Given the description of an element on the screen output the (x, y) to click on. 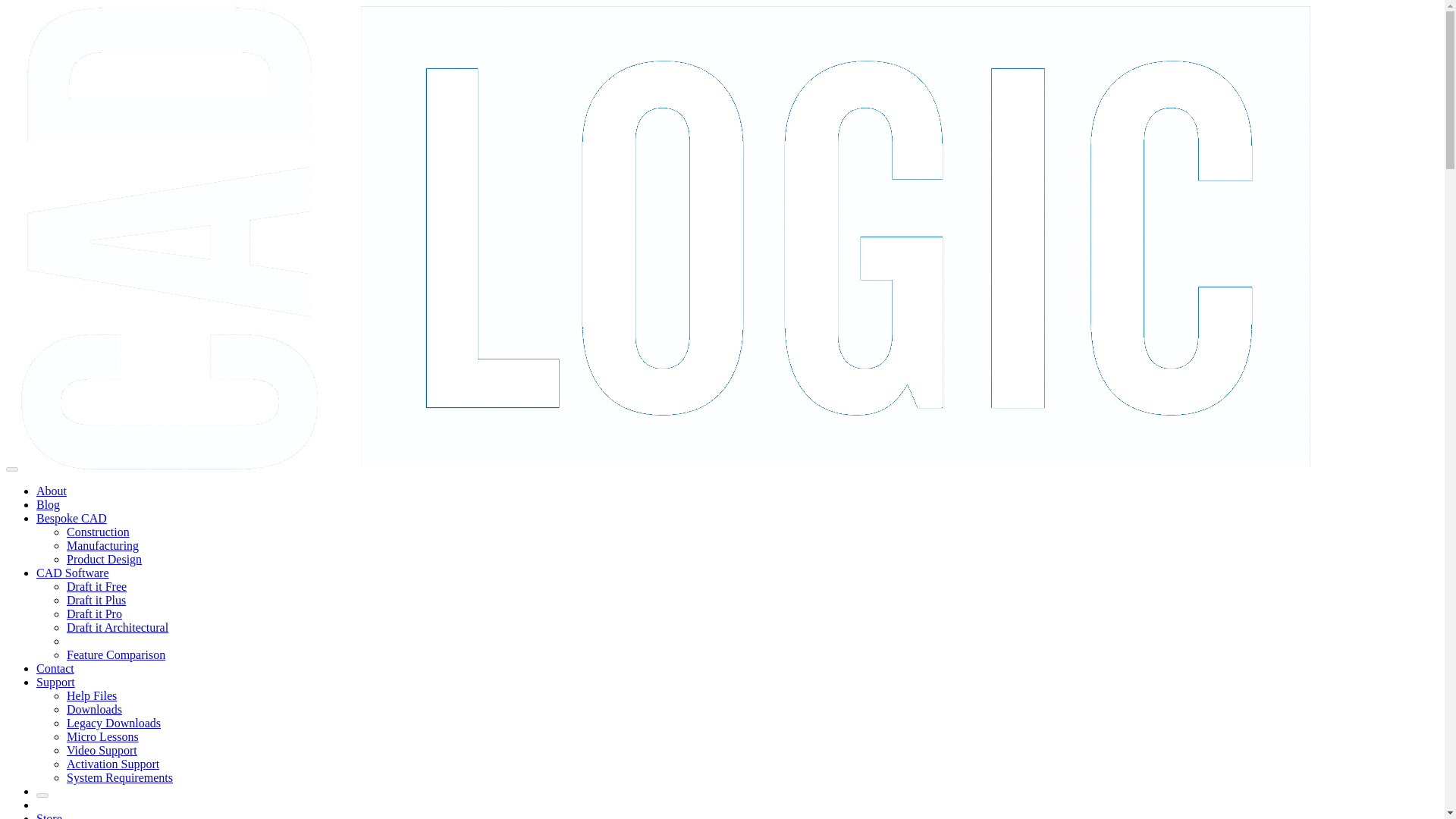
Draft it Comparison (115, 654)
About (51, 490)
Manufacturing (102, 545)
Draft it Architectural (117, 626)
System Requirements (119, 777)
Activation Support (112, 763)
Draft it Plus (95, 599)
Contact (55, 667)
Downloads (94, 708)
Activation Support (112, 763)
Product Design (103, 558)
Draft it Free (96, 585)
Video Support (101, 749)
Help Files (91, 695)
Draft it Pro (94, 613)
